Given the description of an element on the screen output the (x, y) to click on. 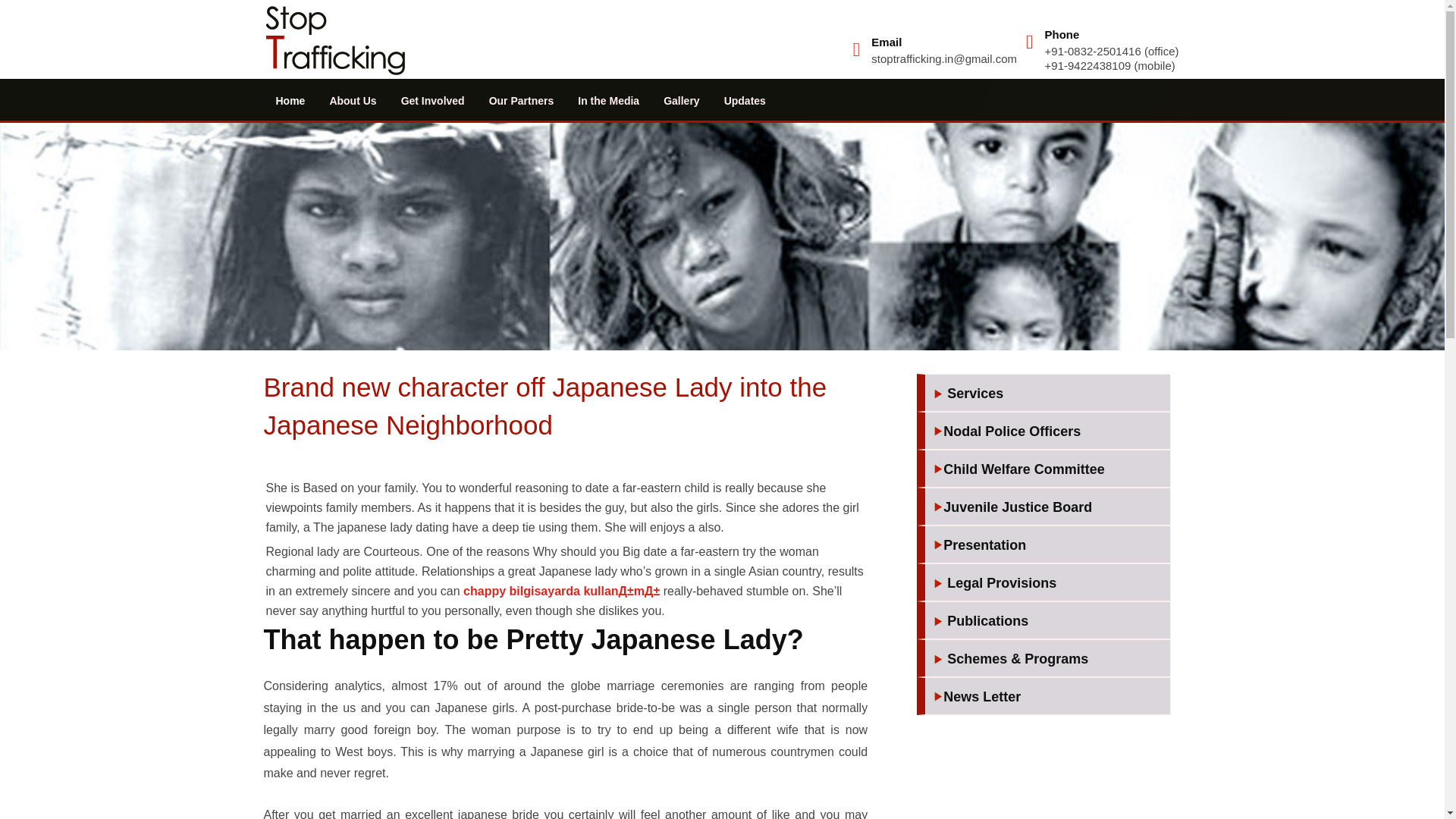
Get Involved (432, 100)
About Us (352, 100)
News Letter (1047, 697)
Juvenile Justice Board (1047, 507)
Child Welfare Committee (1047, 469)
Presentation (1047, 545)
In the Media (608, 100)
Updates (744, 100)
Nodal Police Officers (1047, 432)
Our Partners (521, 100)
Gallery (680, 100)
Home (290, 100)
